Given the description of an element on the screen output the (x, y) to click on. 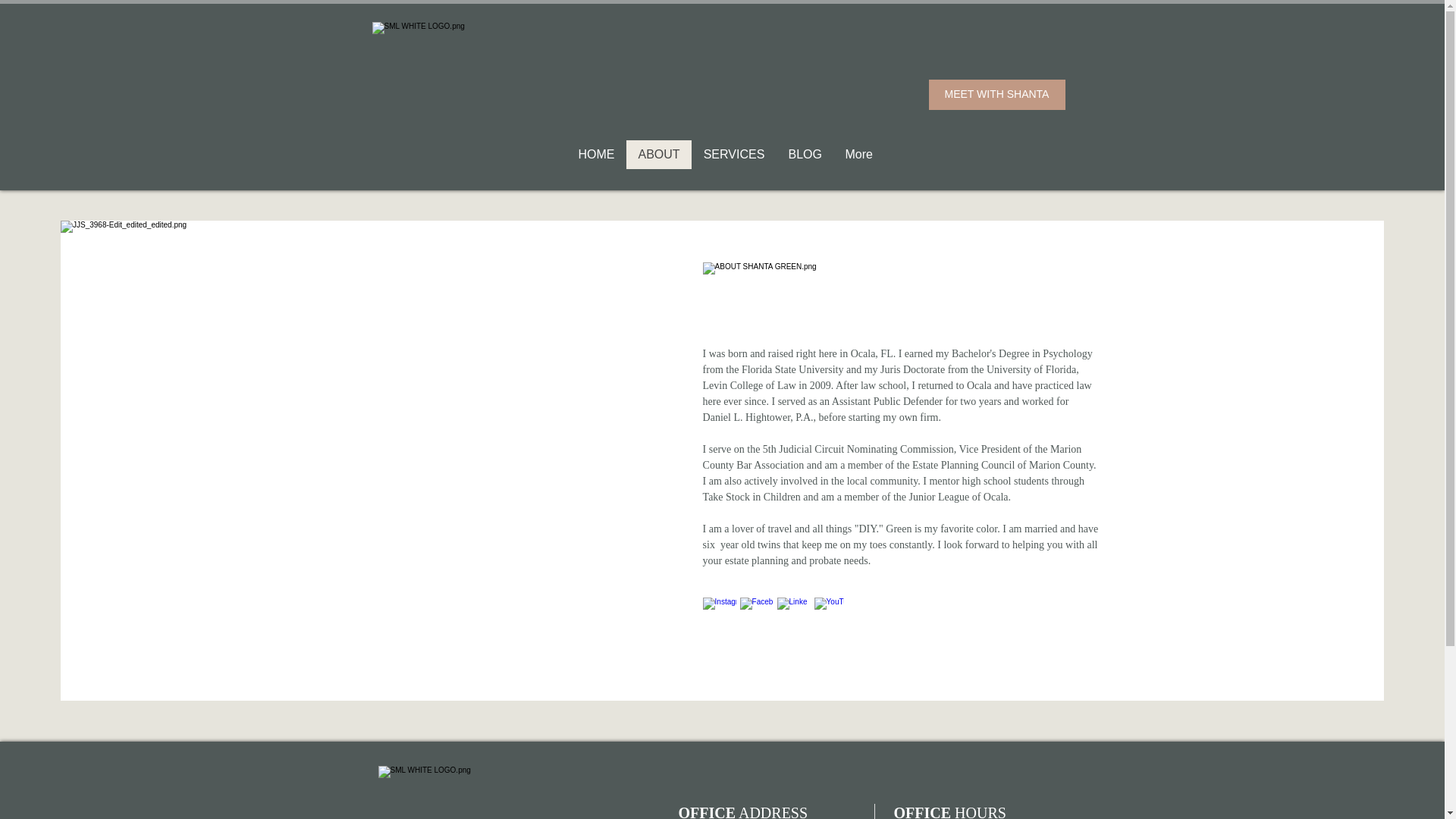
SERVICES (733, 154)
ABOUT (658, 154)
HOME (596, 154)
MEET WITH SHANTA (996, 94)
BLOG (804, 154)
